Given the description of an element on the screen output the (x, y) to click on. 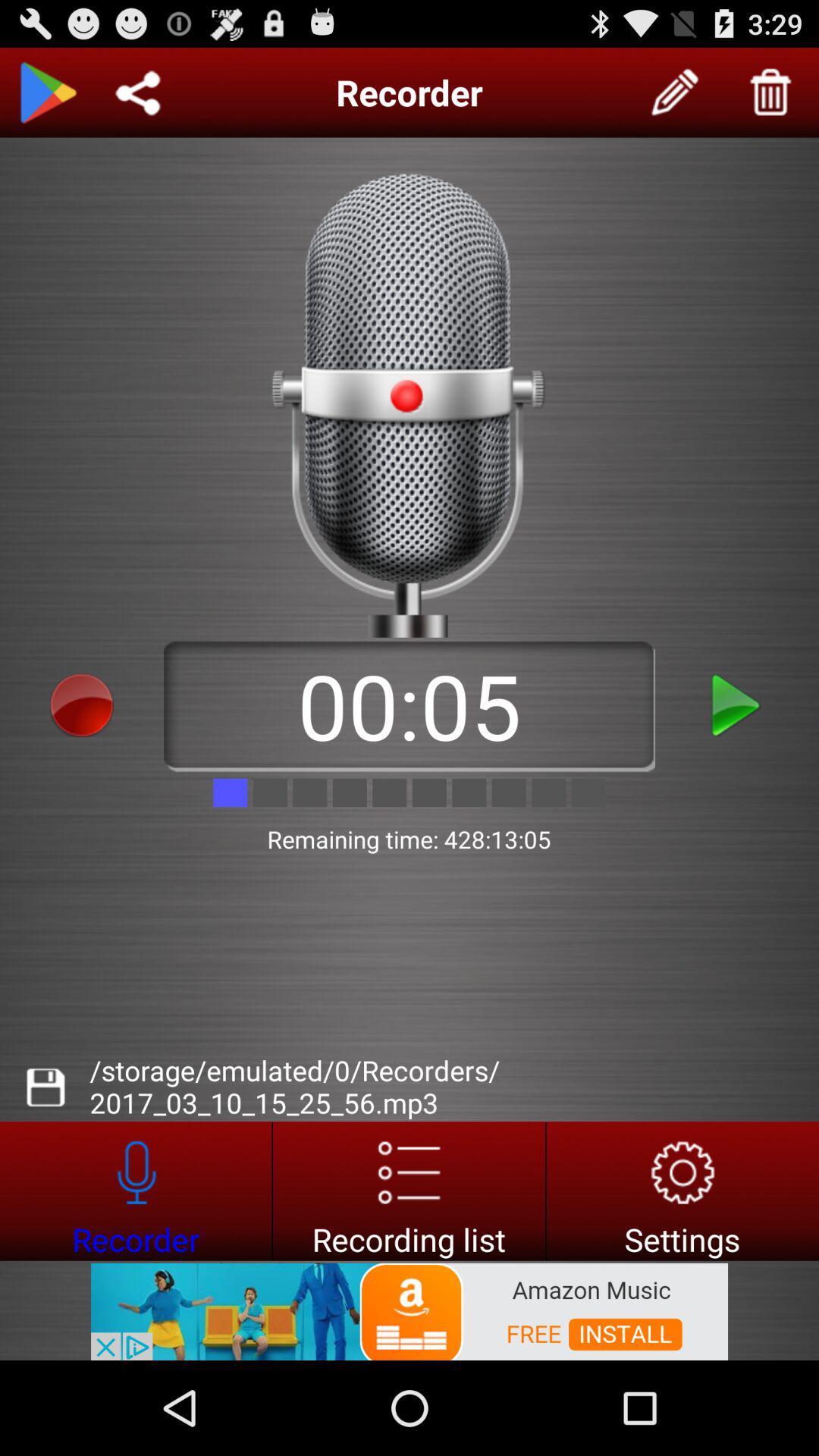
interact with advertisement (409, 1310)
